Given the description of an element on the screen output the (x, y) to click on. 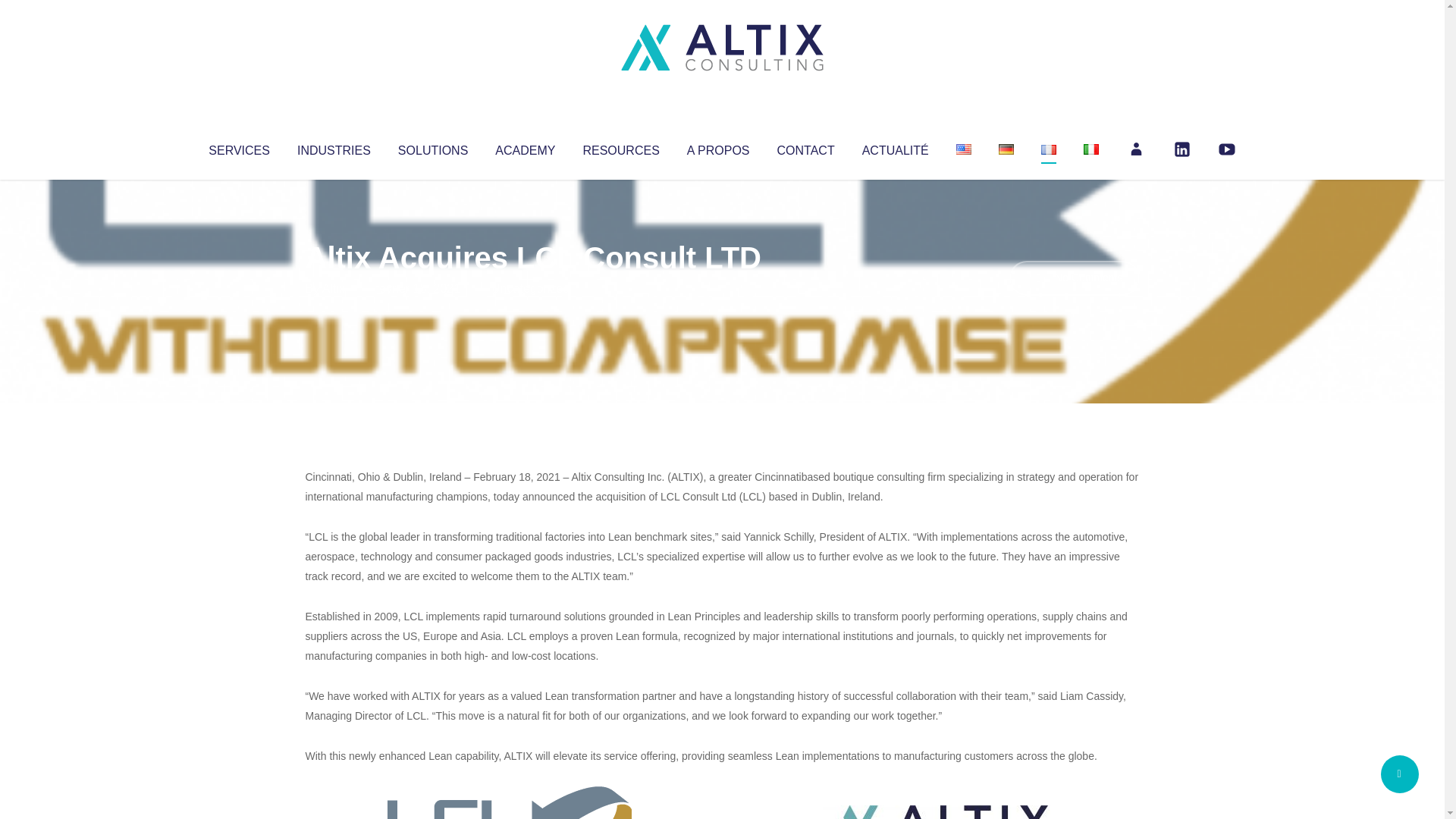
RESOURCES (620, 146)
Altix (333, 287)
Articles par Altix (333, 287)
INDUSTRIES (334, 146)
No Comments (1073, 278)
SERVICES (238, 146)
SOLUTIONS (432, 146)
ACADEMY (524, 146)
Uncategorized (530, 287)
A PROPOS (718, 146)
